Given the description of an element on the screen output the (x, y) to click on. 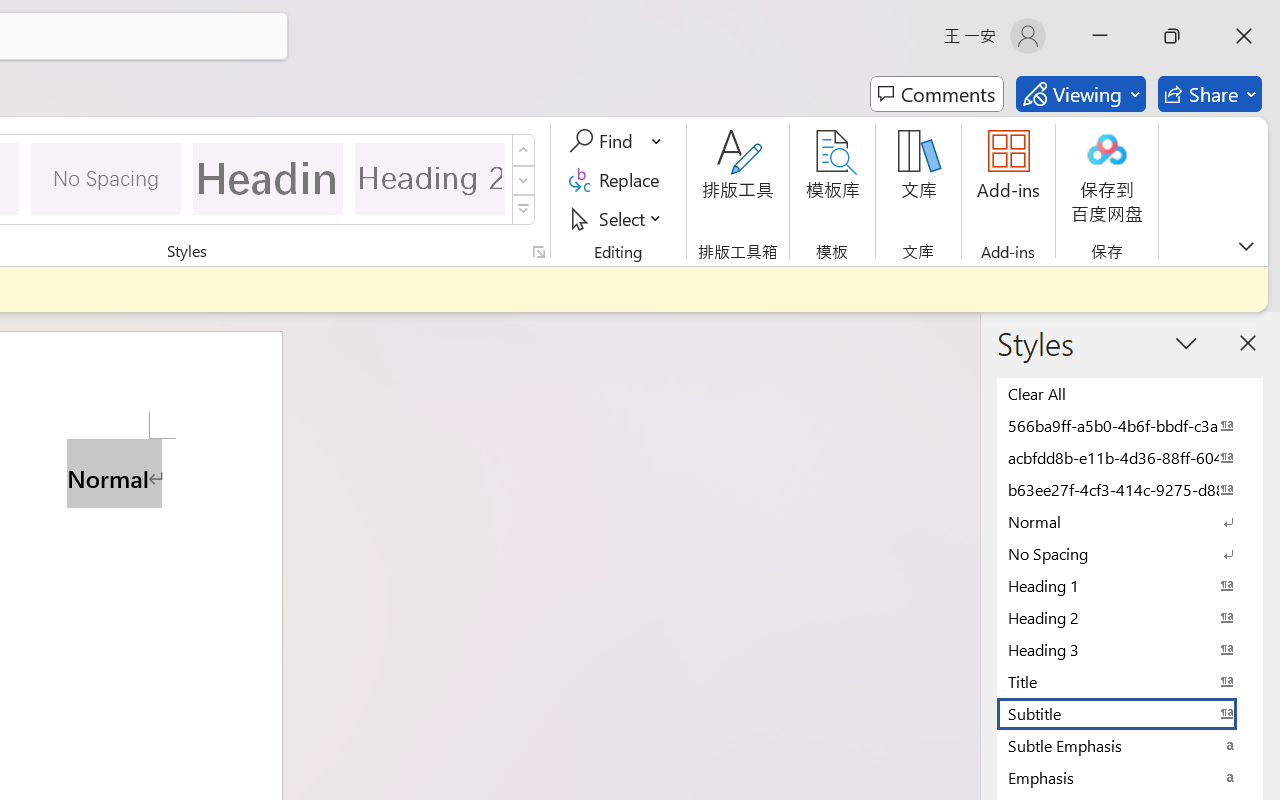
Task Pane Options (1186, 343)
Emphasis (1130, 777)
Row up (523, 150)
No Spacing (1130, 553)
Heading 3 (1130, 649)
Styles... (538, 252)
Normal (1130, 521)
Subtitle (1130, 713)
Styles (523, 209)
